Given the description of an element on the screen output the (x, y) to click on. 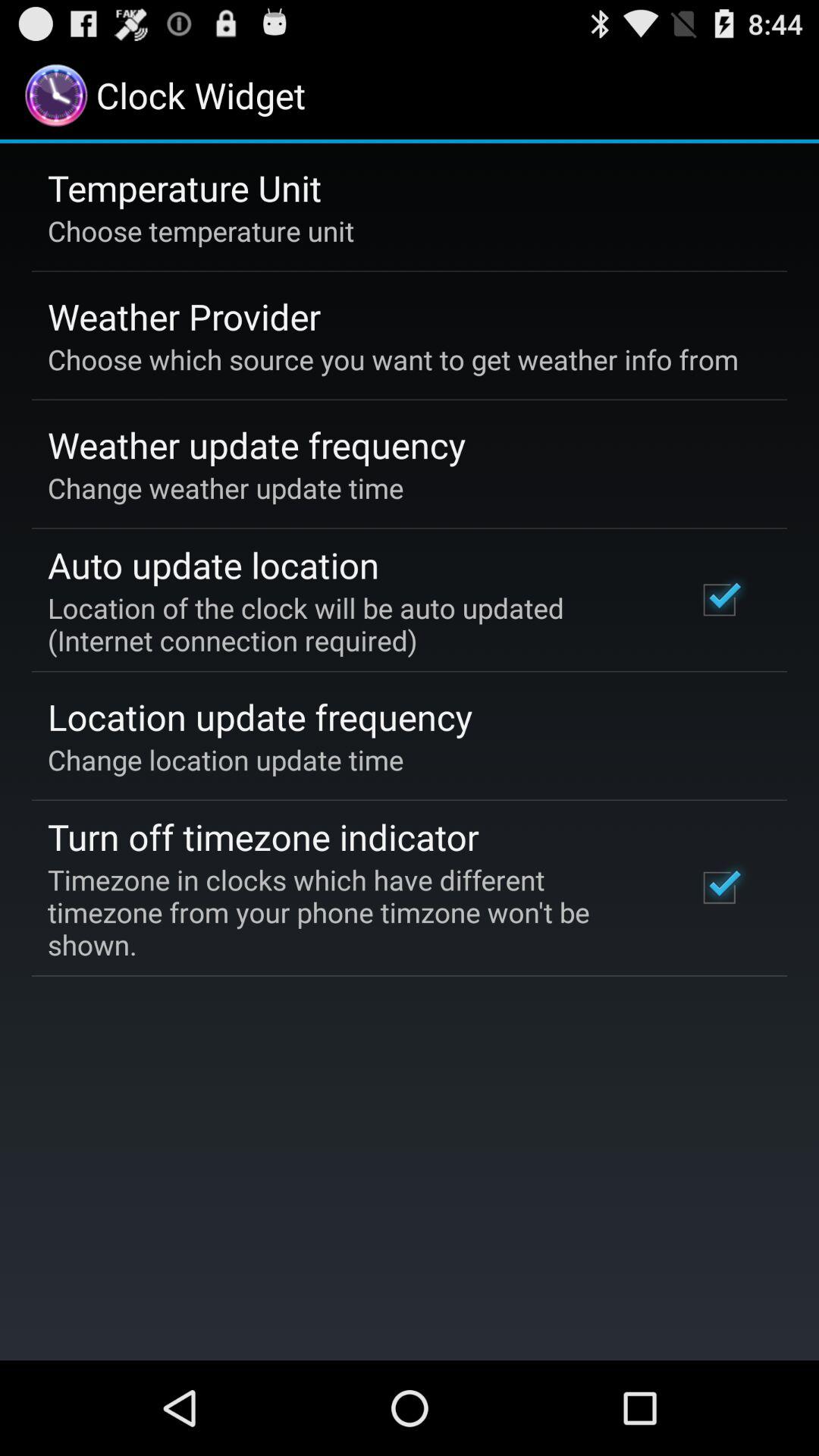
turn on choose which source item (392, 359)
